Given the description of an element on the screen output the (x, y) to click on. 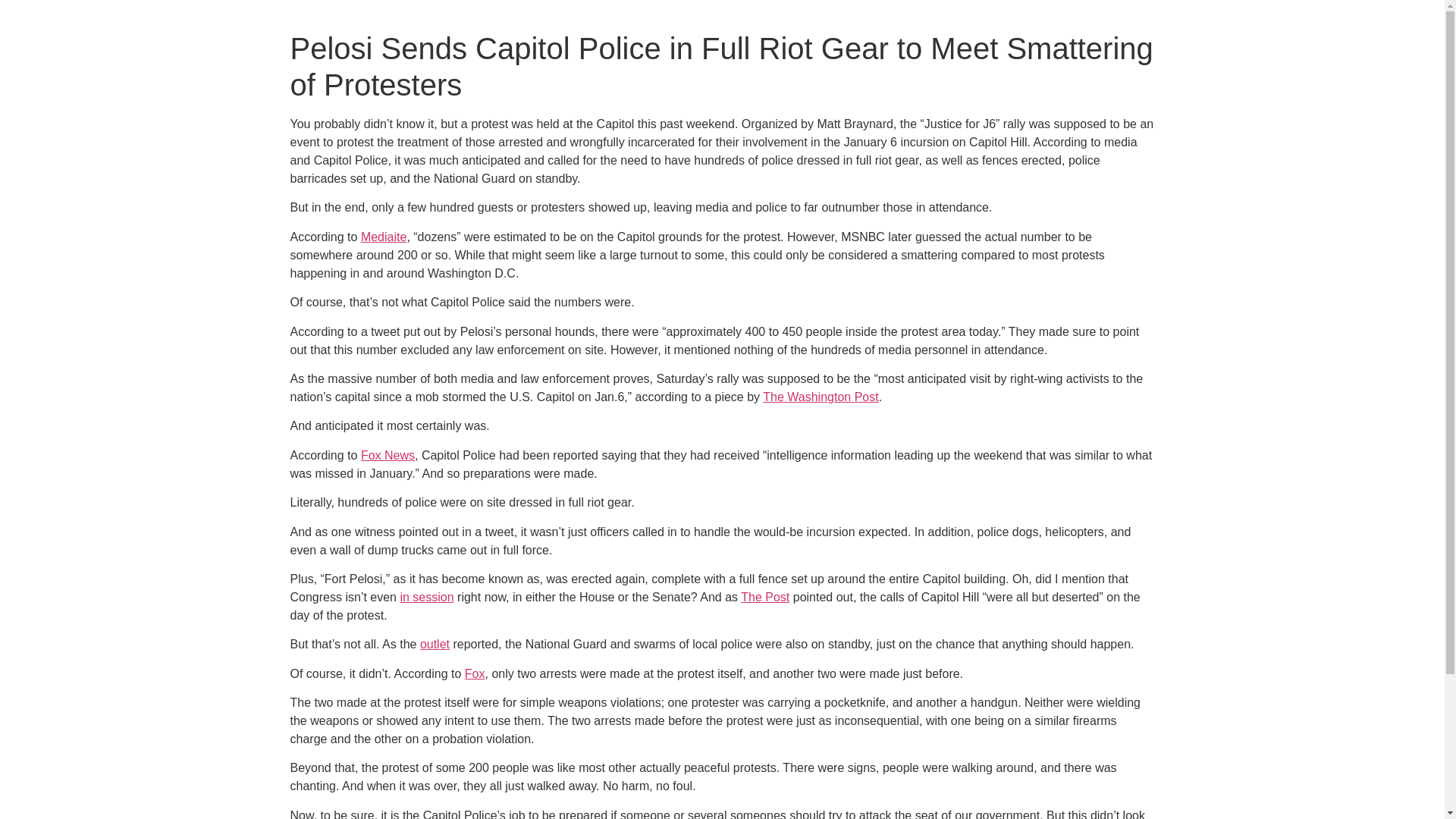
Fox (474, 673)
The Washington Post (819, 396)
in session (425, 596)
outlet (434, 644)
Fox News (387, 454)
The Post (765, 596)
Mediaite (383, 236)
